Given the description of an element on the screen output the (x, y) to click on. 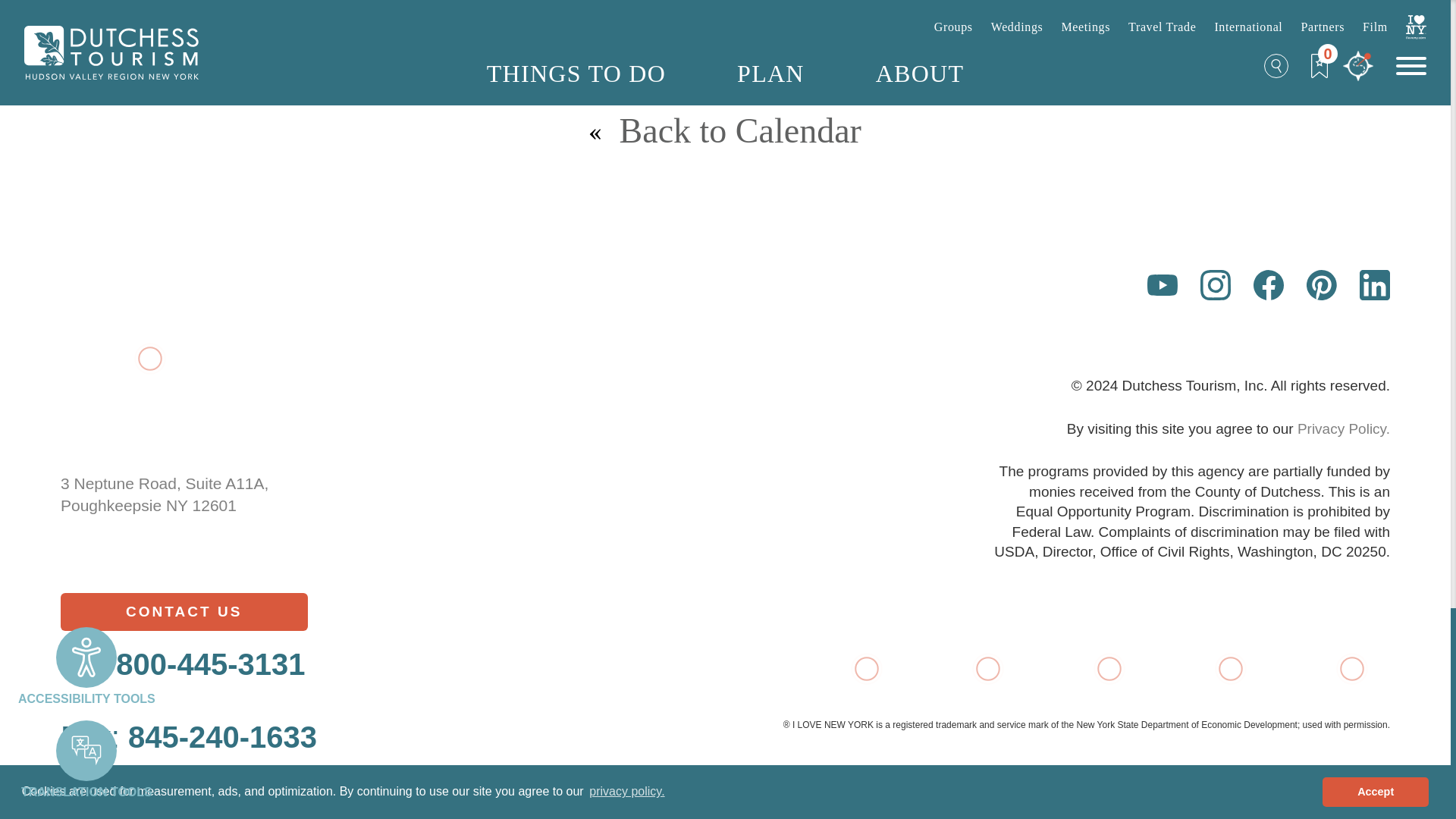
Go to I Love New York Page (843, 668)
Go to Think Dutchess Page (1207, 668)
Go to our Pinterest Page (1321, 285)
Go to Hudson Valley Page (1086, 668)
Go to Destination Marketing Accreditation Program Page (1329, 668)
Go to our Instagram Page (1214, 285)
Go to our Linkedin Page (1374, 285)
Go to our Youtube Page (1162, 285)
Go to VisitUSA.com Page (965, 668)
Go to our Facebook Page (1268, 285)
